Given the description of an element on the screen output the (x, y) to click on. 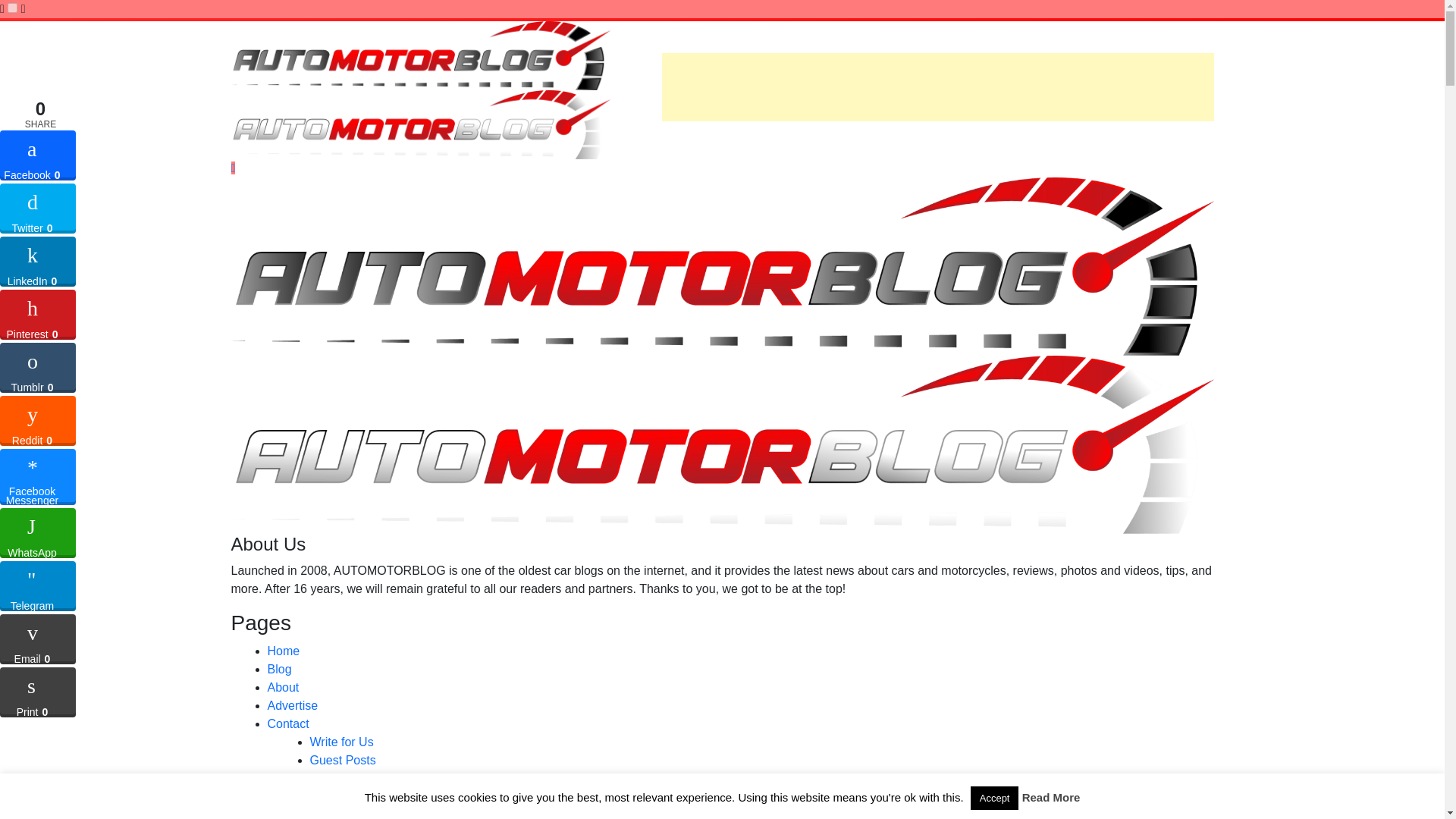
Guest Posts (341, 759)
Write for Us (340, 741)
Blog (278, 668)
Home (282, 650)
About (282, 686)
Contact (287, 723)
on (12, 8)
Advertise (291, 705)
Advertisement (936, 87)
Send us a tip! (346, 778)
